Given the description of an element on the screen output the (x, y) to click on. 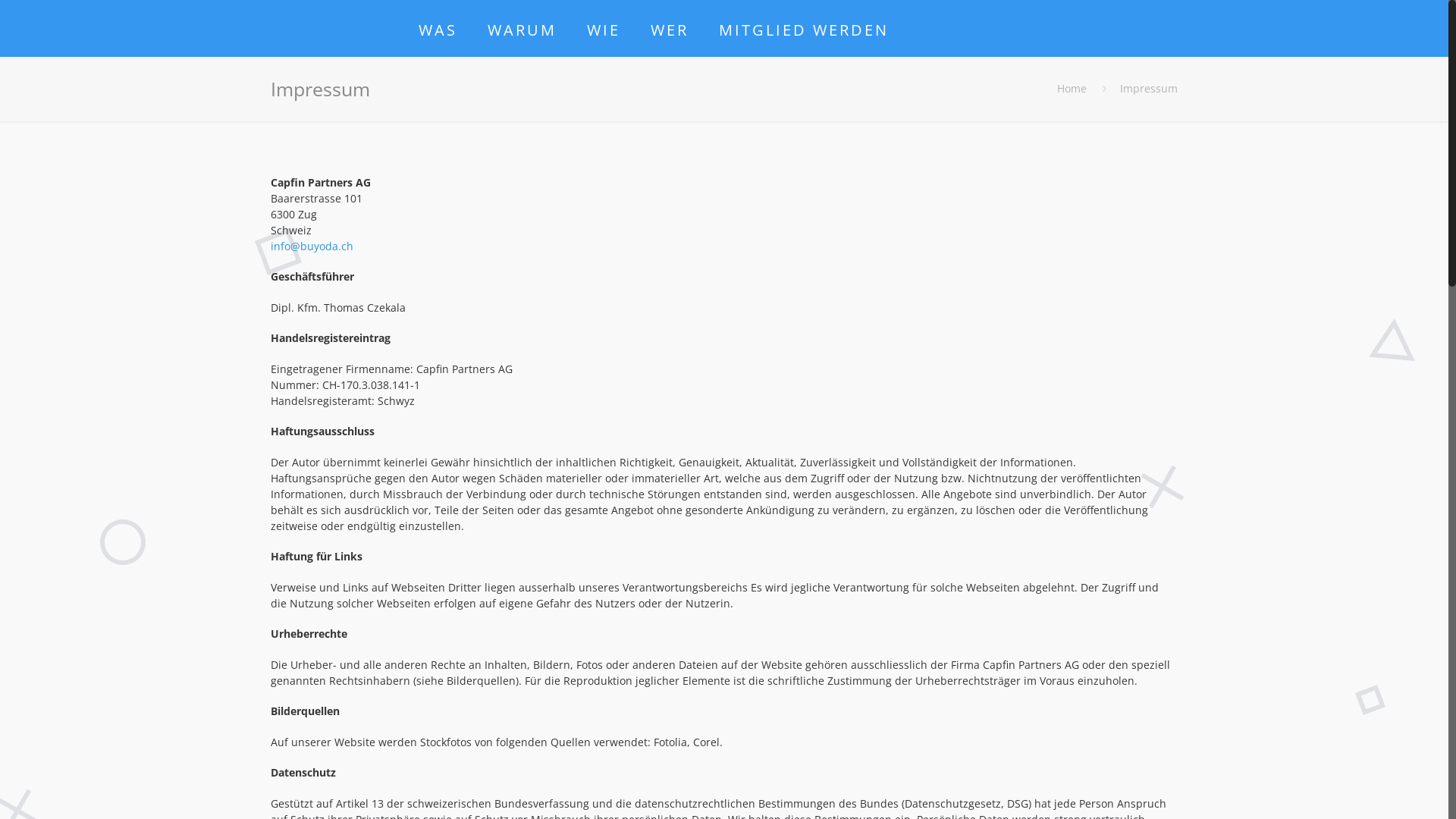
Home Element type: text (1071, 88)
info@buyoda.ch Element type: text (311, 245)
